Given the description of an element on the screen output the (x, y) to click on. 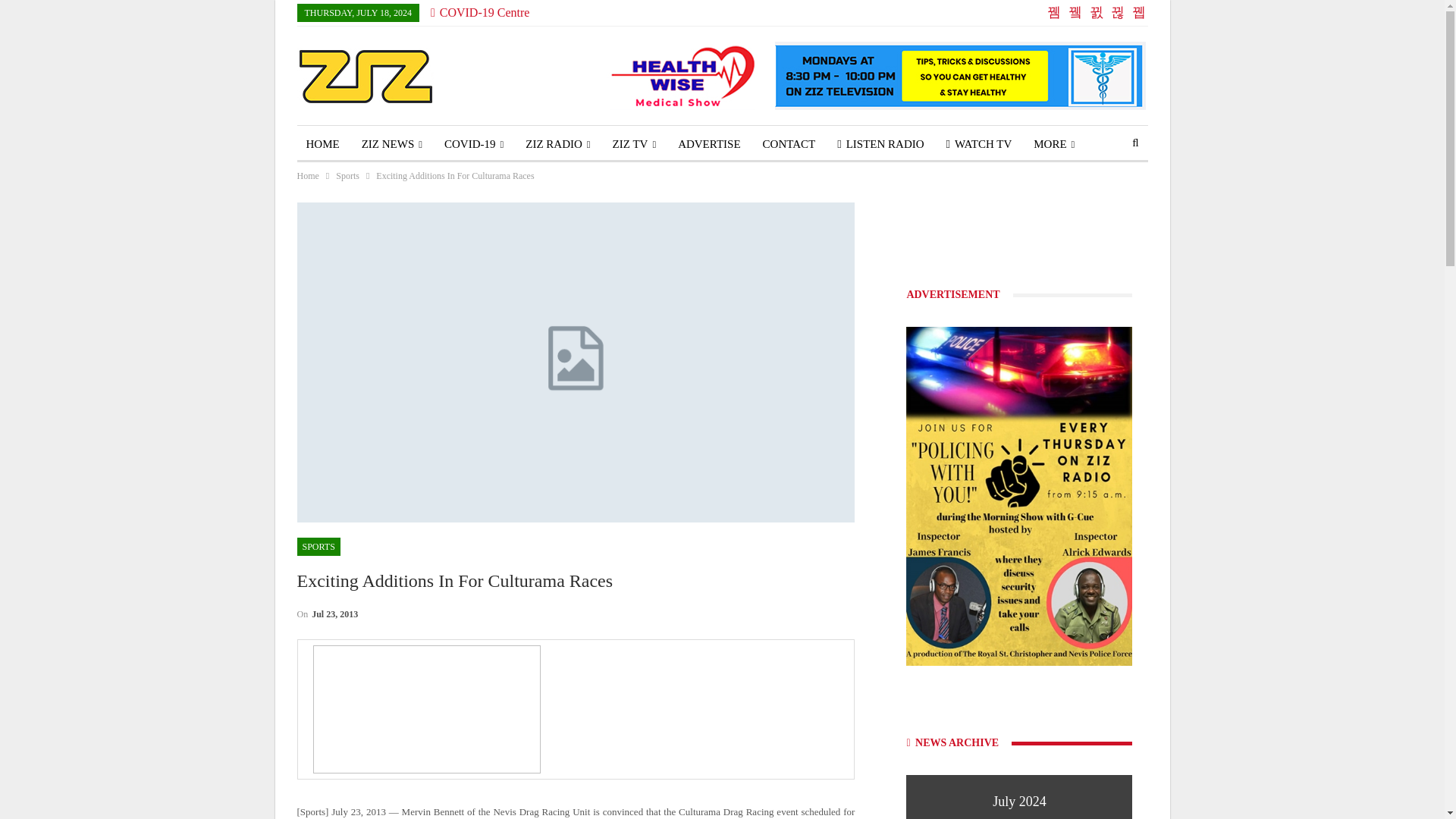
HOME (323, 144)
COVID-19 Centre (479, 11)
COVID-19 (473, 144)
ZIZ NEWS (391, 144)
ZIZ RADIO (557, 144)
